Given the description of an element on the screen output the (x, y) to click on. 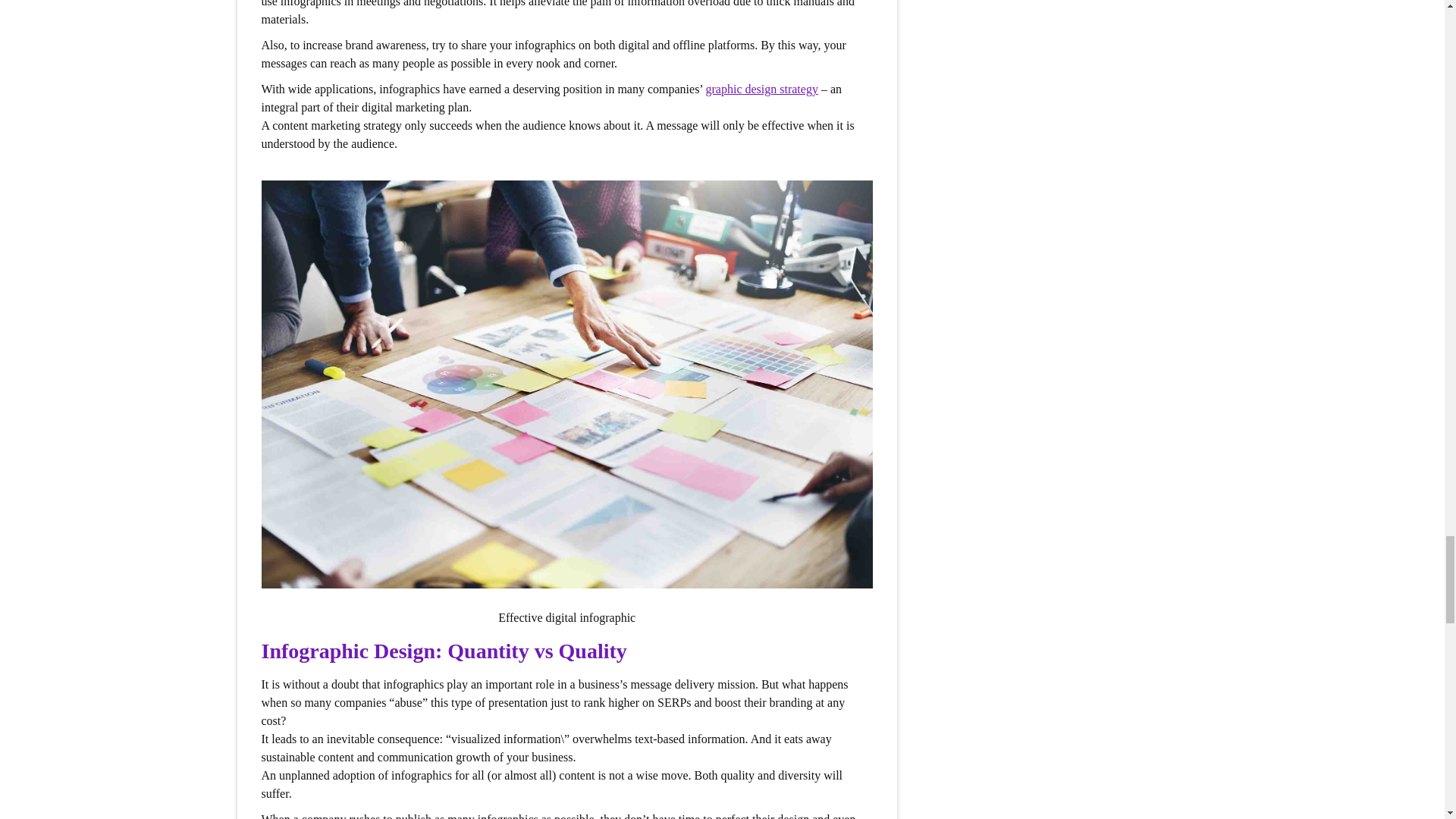
graphic design strategy (760, 88)
